Given the description of an element on the screen output the (x, y) to click on. 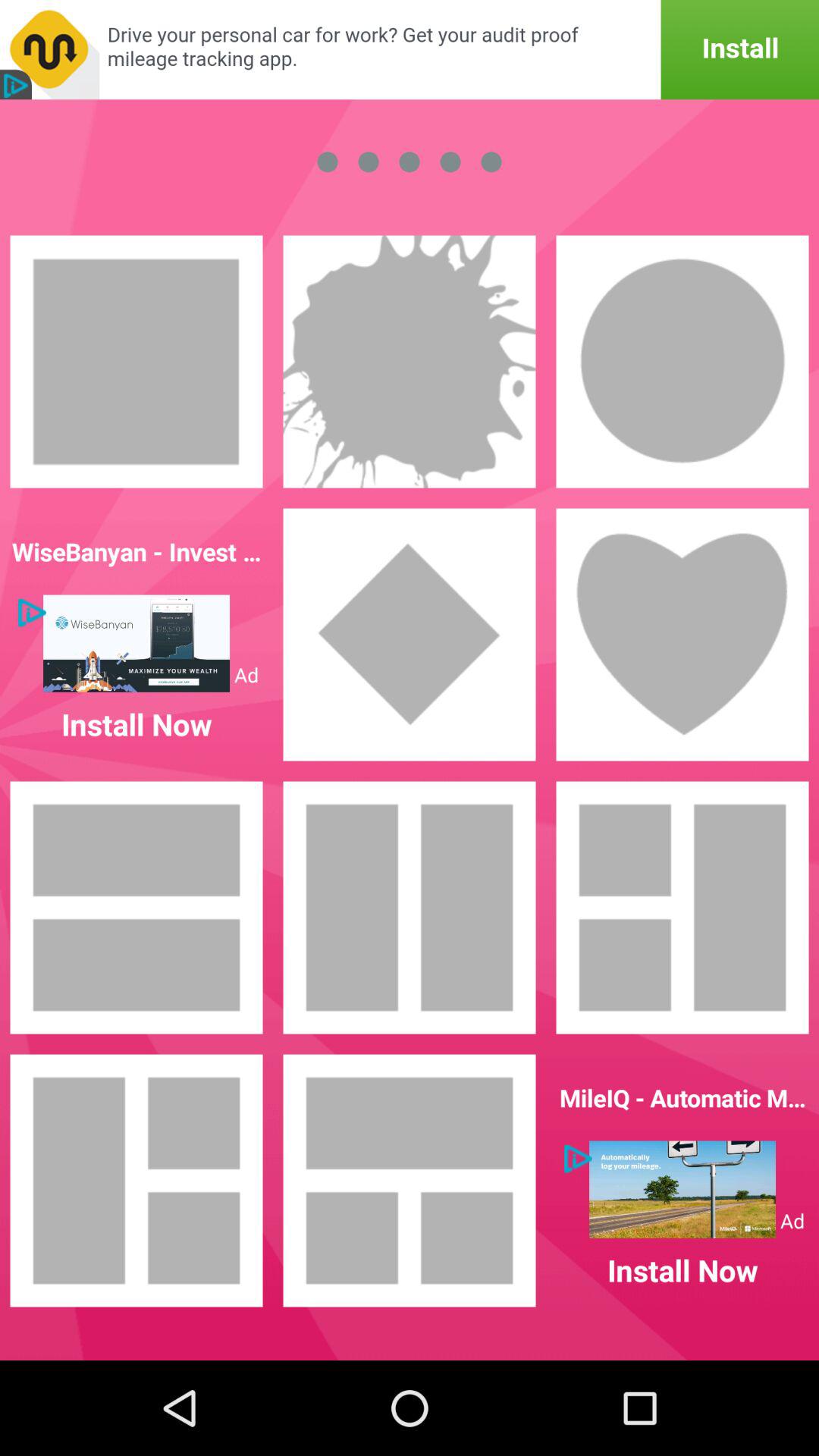
select layout (682, 907)
